Given the description of an element on the screen output the (x, y) to click on. 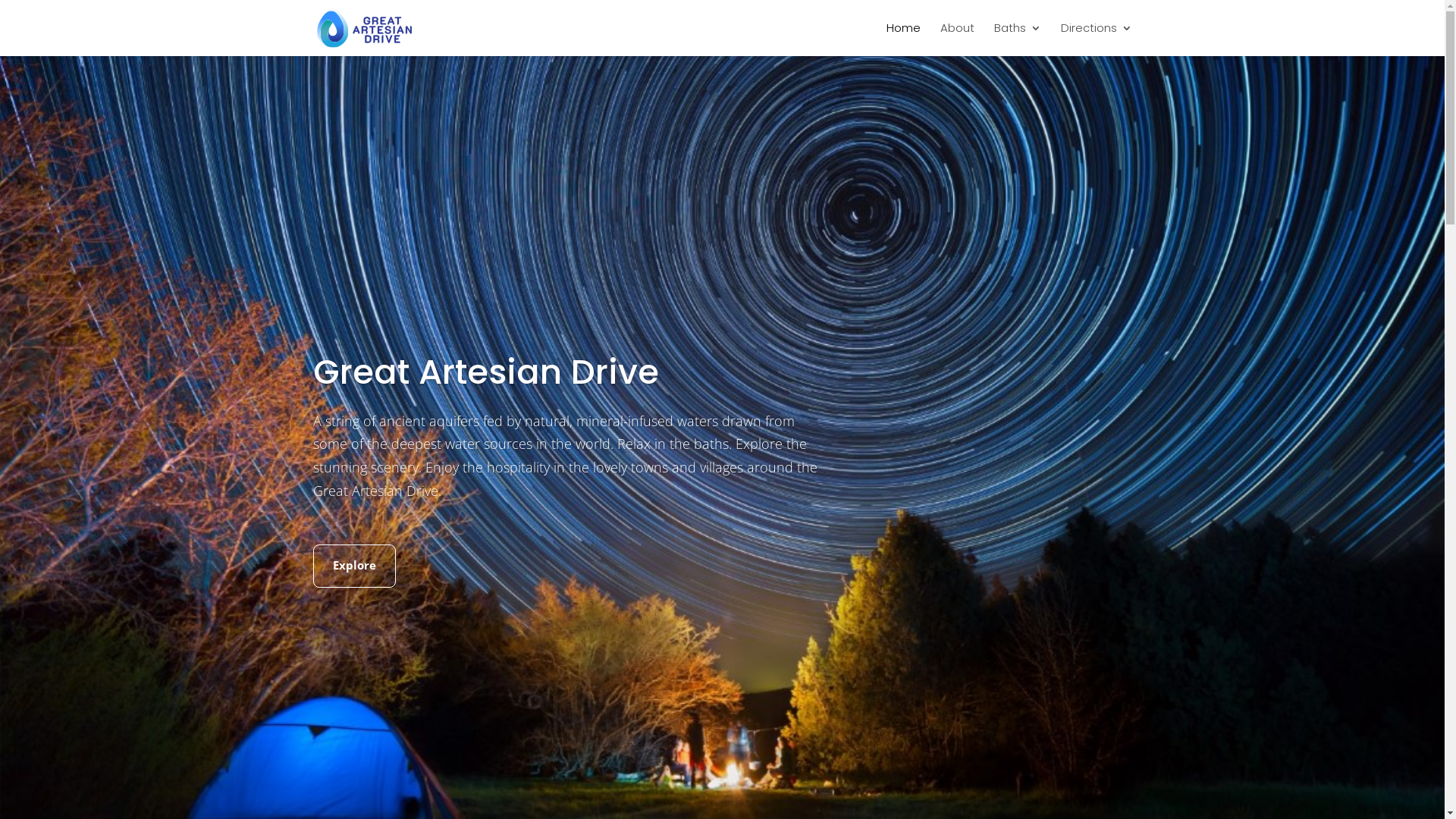
Directions Element type: text (1095, 39)
Explore Element type: text (353, 565)
Home Element type: text (902, 39)
Great Artesian Drive Element type: text (485, 371)
About Element type: text (957, 39)
Baths Element type: text (1016, 39)
